Given the description of an element on the screen output the (x, y) to click on. 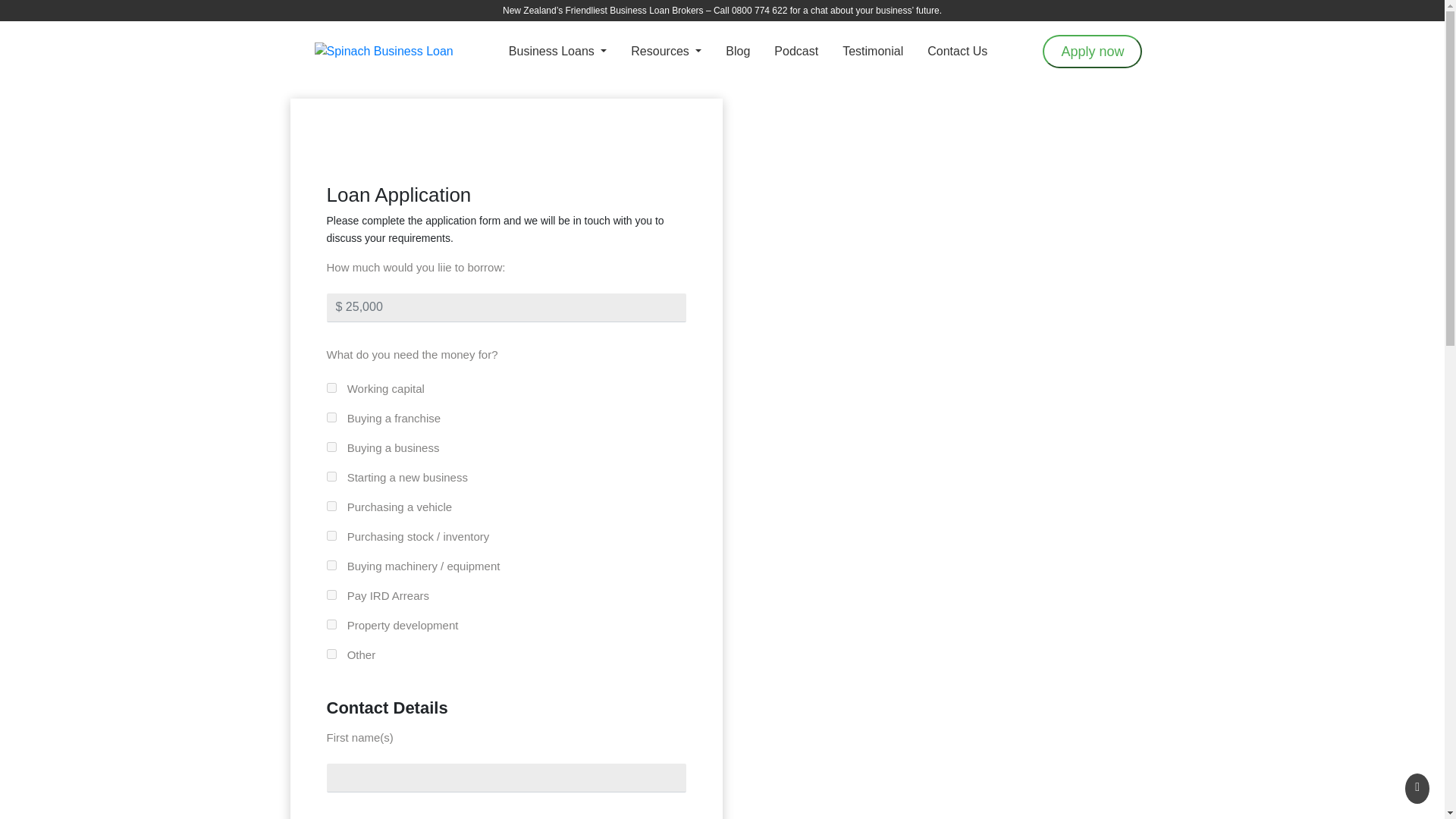
Contact Us (956, 50)
Other (331, 654)
Testimonial (872, 50)
Resources (665, 50)
Business Loans (557, 50)
Pay IRD Arrears (331, 594)
Buying a franchise (331, 417)
Purchasing a vehicle (331, 506)
Blog (737, 50)
Working capital (331, 388)
